Given the description of an element on the screen output the (x, y) to click on. 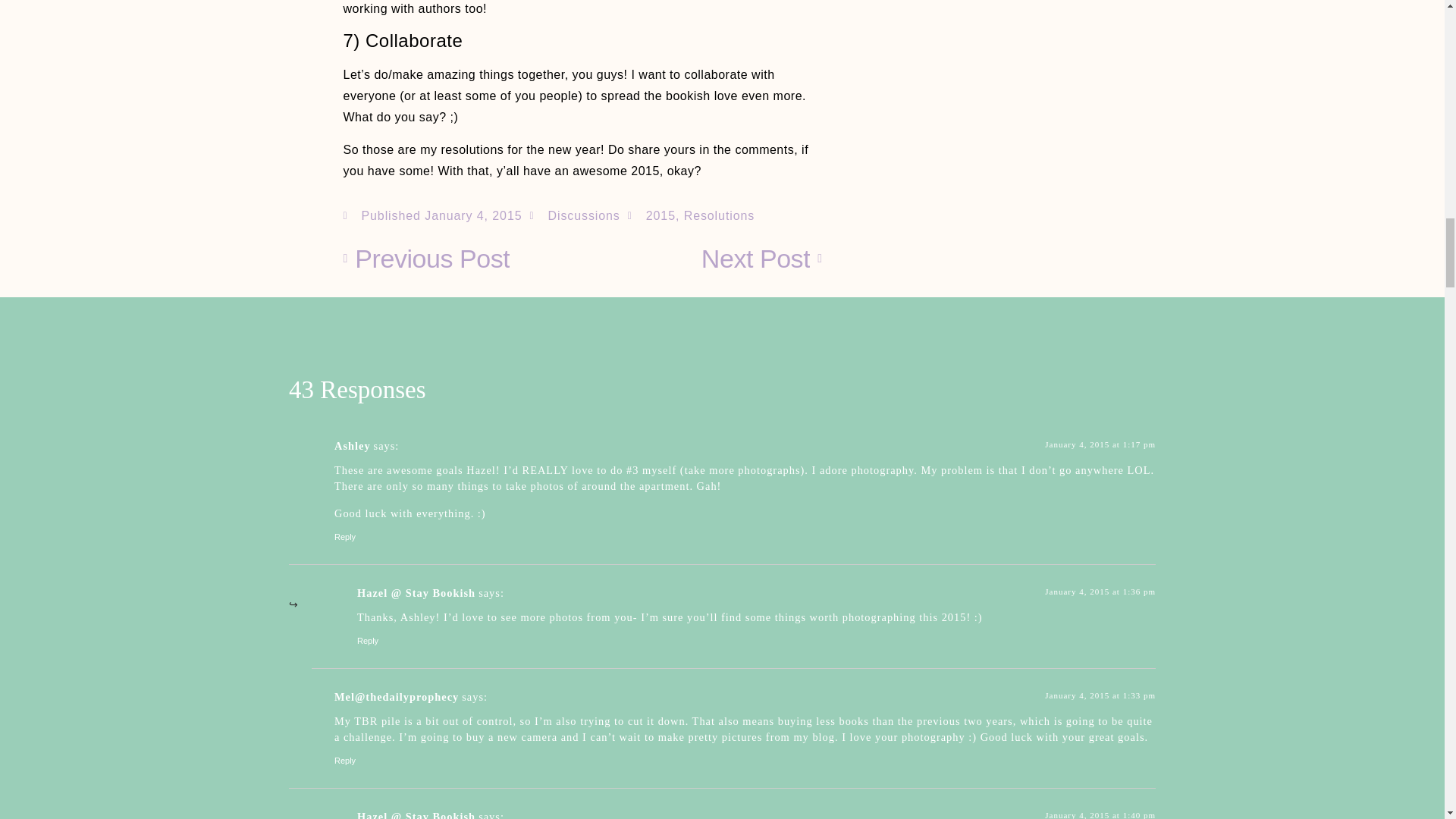
Previous Post (462, 258)
Resolutions (719, 215)
Discussions (583, 215)
2015 (660, 215)
Next Post (702, 258)
